Given the description of an element on the screen output the (x, y) to click on. 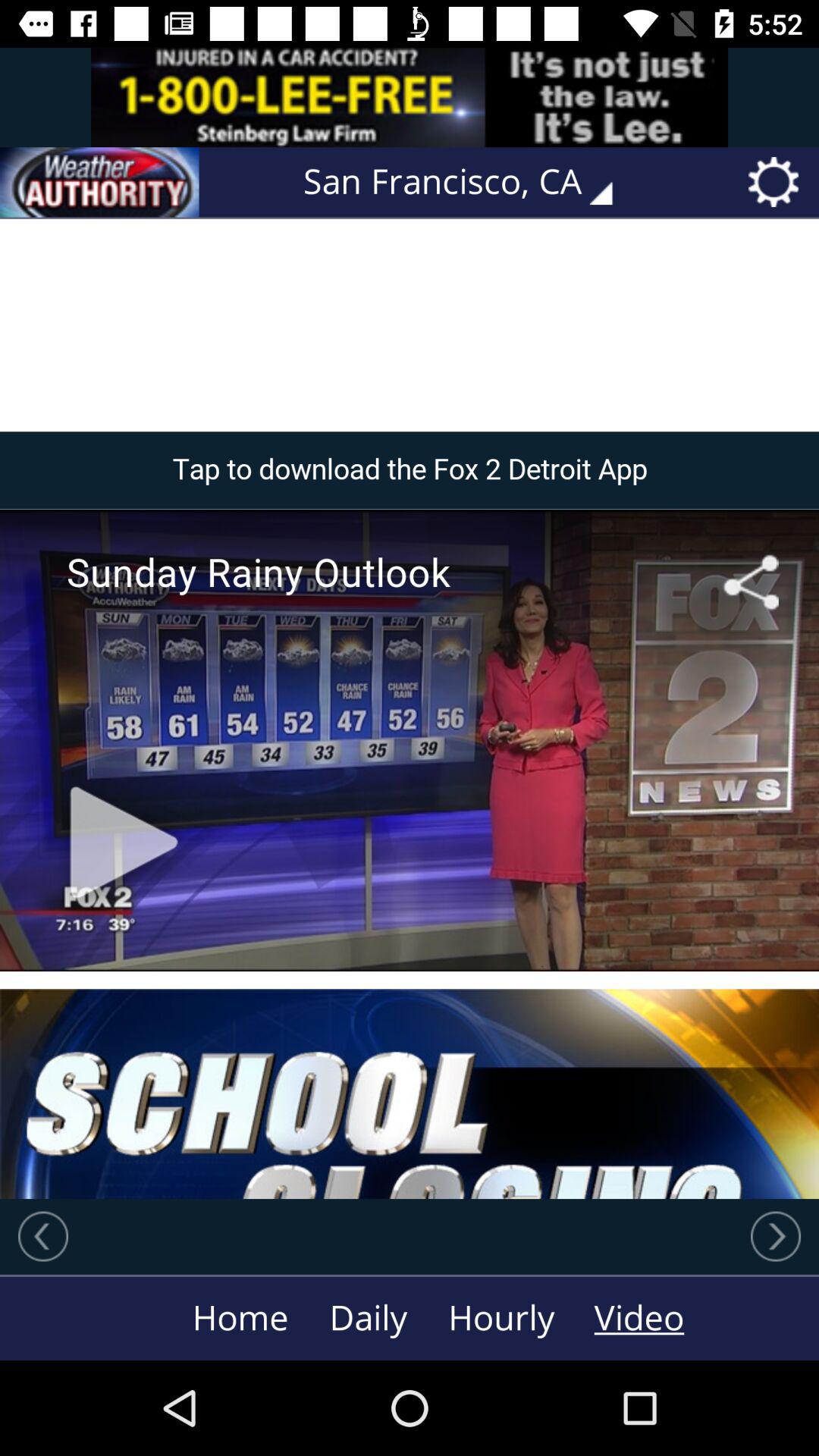
open advertisement (409, 97)
